Given the description of an element on the screen output the (x, y) to click on. 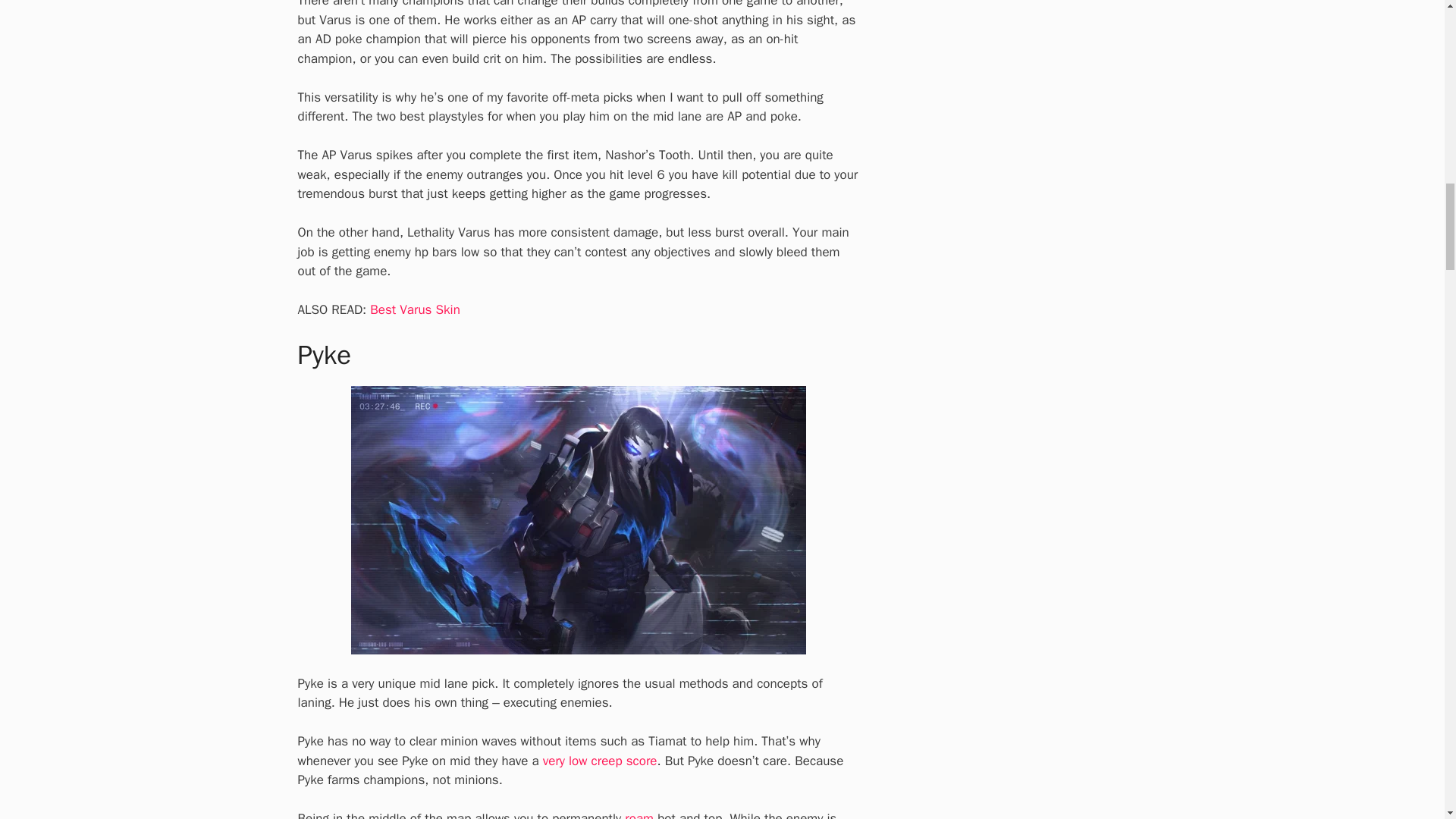
roam (638, 814)
very low creep score (600, 760)
Best Varus Skin (414, 309)
